Given the description of an element on the screen output the (x, y) to click on. 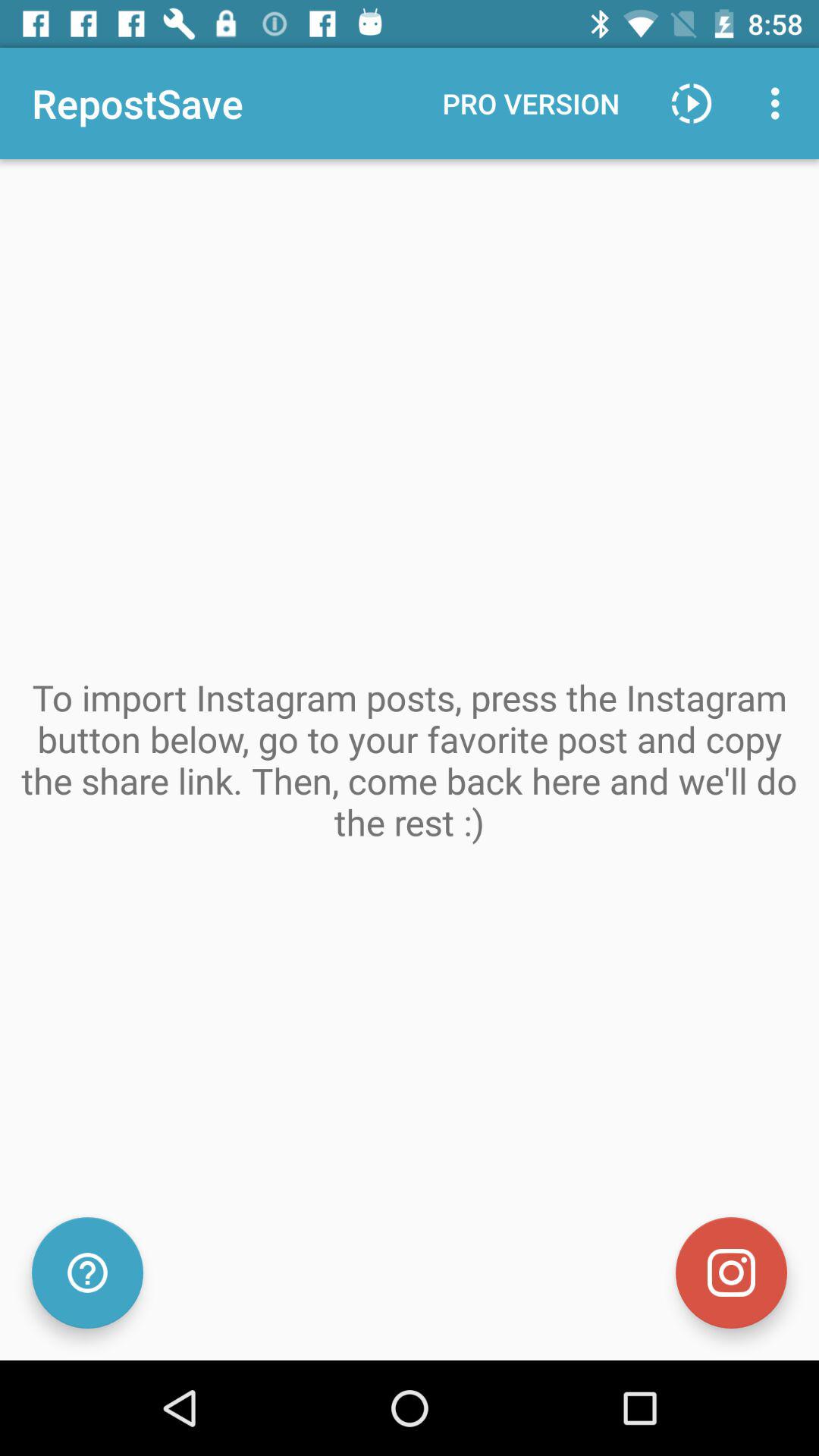
opens the faq section (87, 1272)
